Given the description of an element on the screen output the (x, y) to click on. 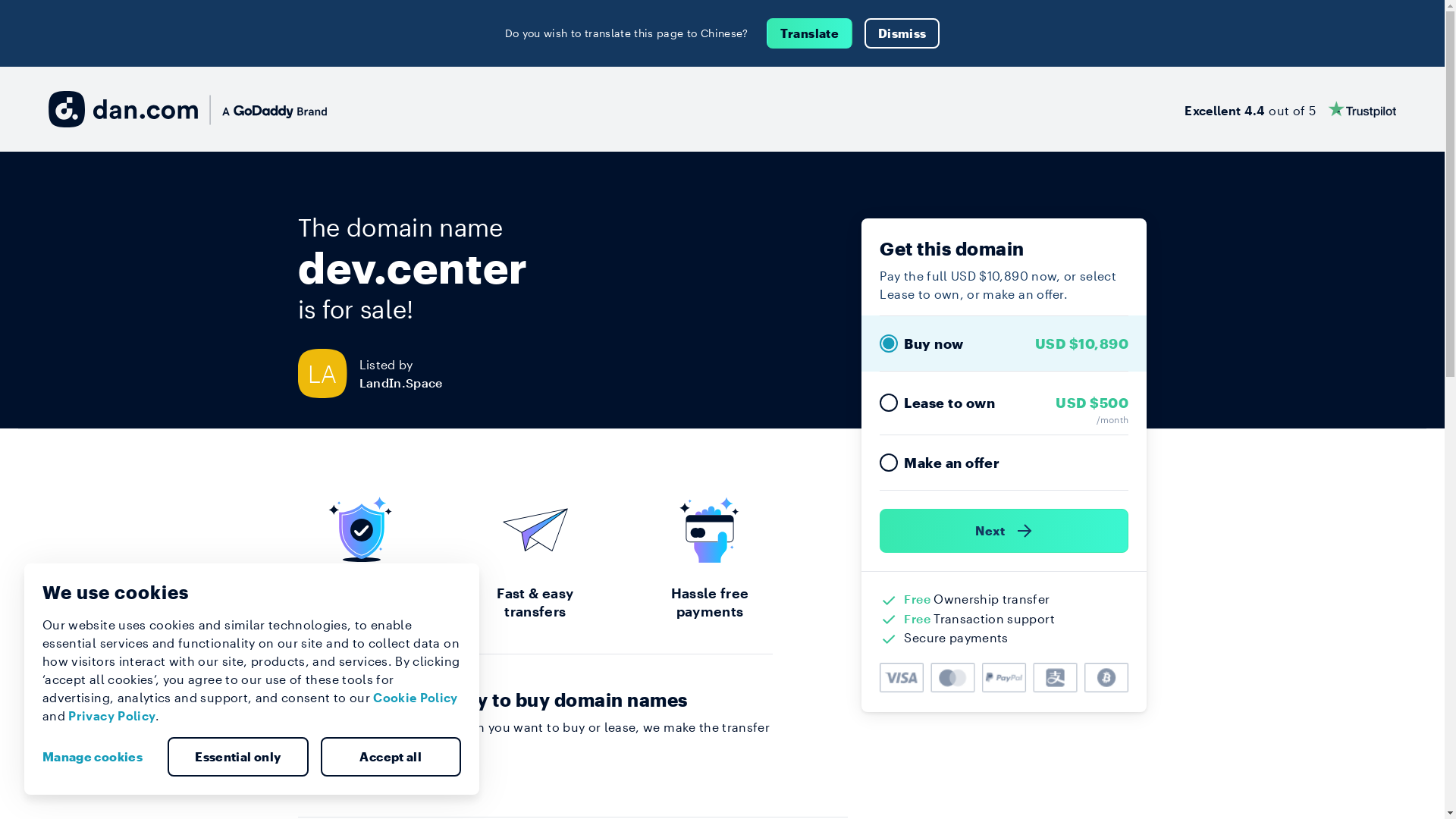
Essential only Element type: text (237, 756)
Cookie Policy Element type: text (415, 697)
LA Element type: text (327, 373)
Accept all Element type: text (390, 756)
Excellent 4.4 out of 5 Element type: text (1290, 109)
Manage cookies Element type: text (98, 756)
Next
) Element type: text (1003, 530)
Dismiss Element type: text (901, 33)
Translate Element type: text (809, 33)
Privacy Policy Element type: text (111, 715)
